Given the description of an element on the screen output the (x, y) to click on. 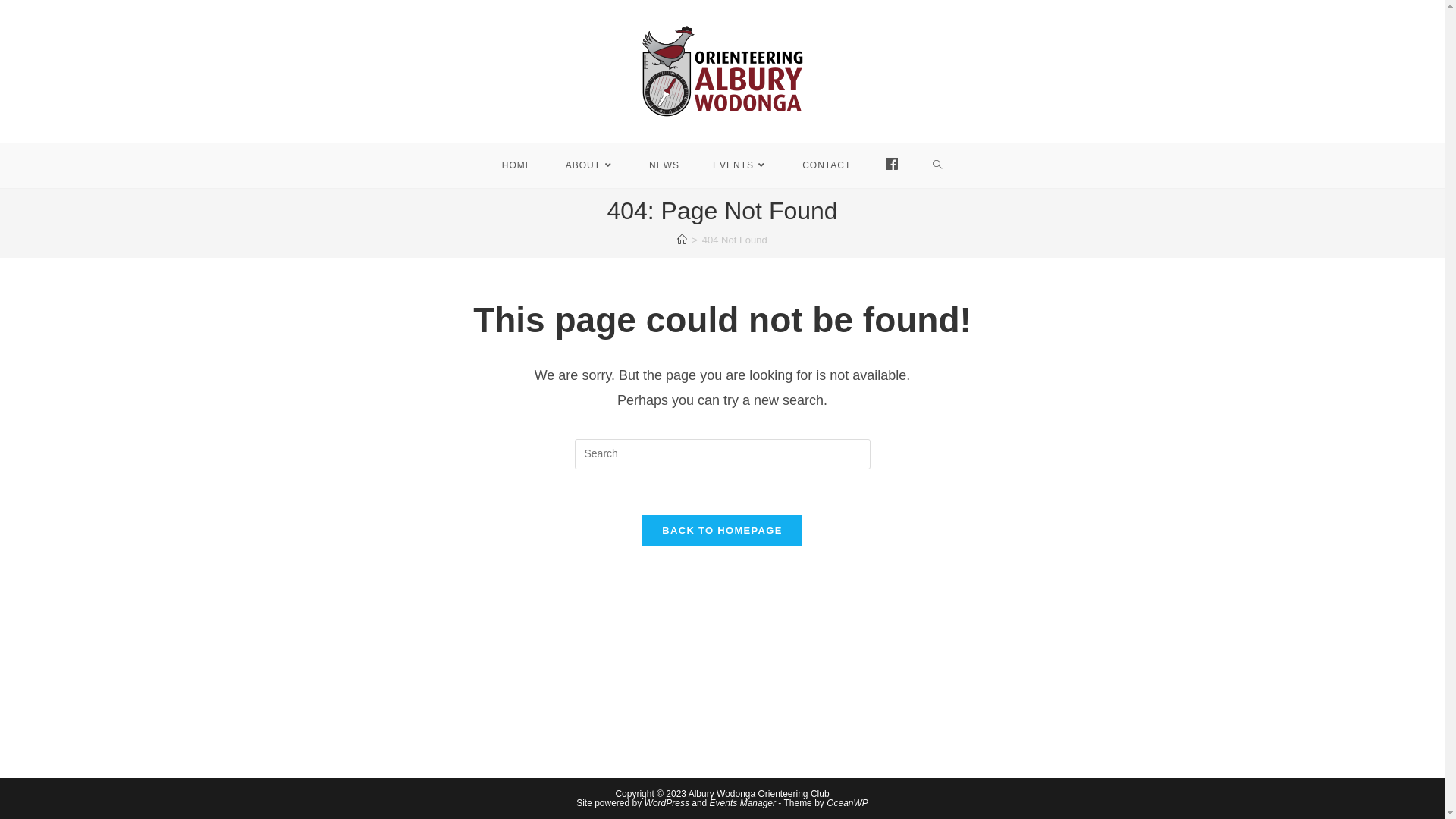
BACK TO HOMEPAGE Element type: text (721, 530)
Events Manager Element type: text (742, 802)
HOME Element type: text (517, 165)
OceanWP Element type: text (847, 802)
ABOUT Element type: text (590, 165)
CONTACT Element type: text (826, 165)
EVENTS Element type: text (740, 165)
NEWS Element type: text (664, 165)
TOGGLE WEBSITE SEARCH Element type: text (937, 165)
WordPress Element type: text (666, 802)
